Given the description of an element on the screen output the (x, y) to click on. 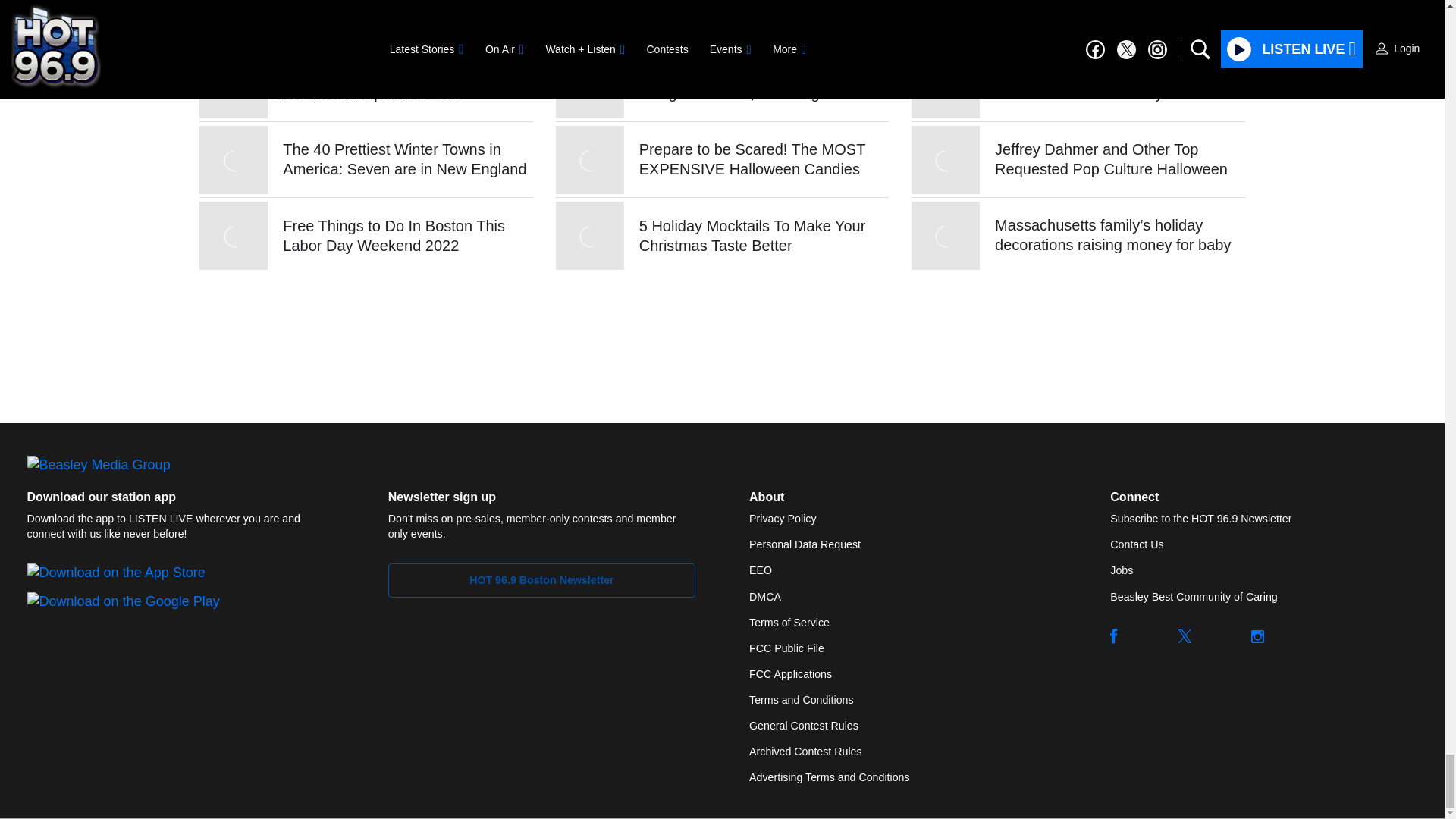
Twitter (1184, 635)
Instagram (1256, 635)
